Given the description of an element on the screen output the (x, y) to click on. 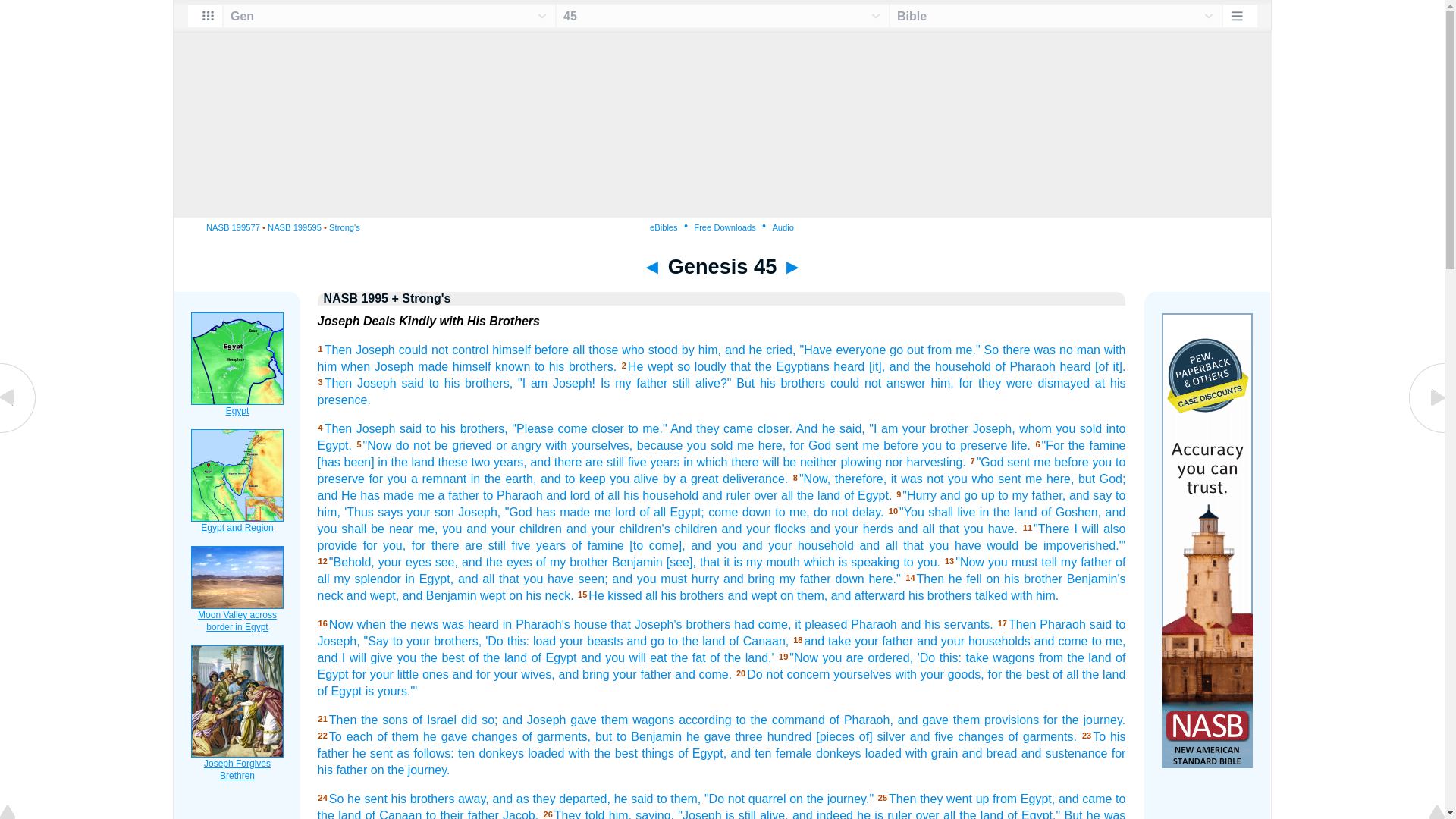
that the Egyptians (779, 366)
out from me." So there was no (990, 349)
himself before all (538, 349)
said (412, 382)
"I am Joseph! (556, 382)
at his presence. (721, 391)
Strong's (344, 226)
NASB 199577 (233, 226)
alive?" (712, 382)
heard (848, 366)
He wept (649, 366)
those who stood (633, 349)
NASB 199595 (294, 226)
Then Joseph (360, 428)
so loudly (701, 366)
